Given the description of an element on the screen output the (x, y) to click on. 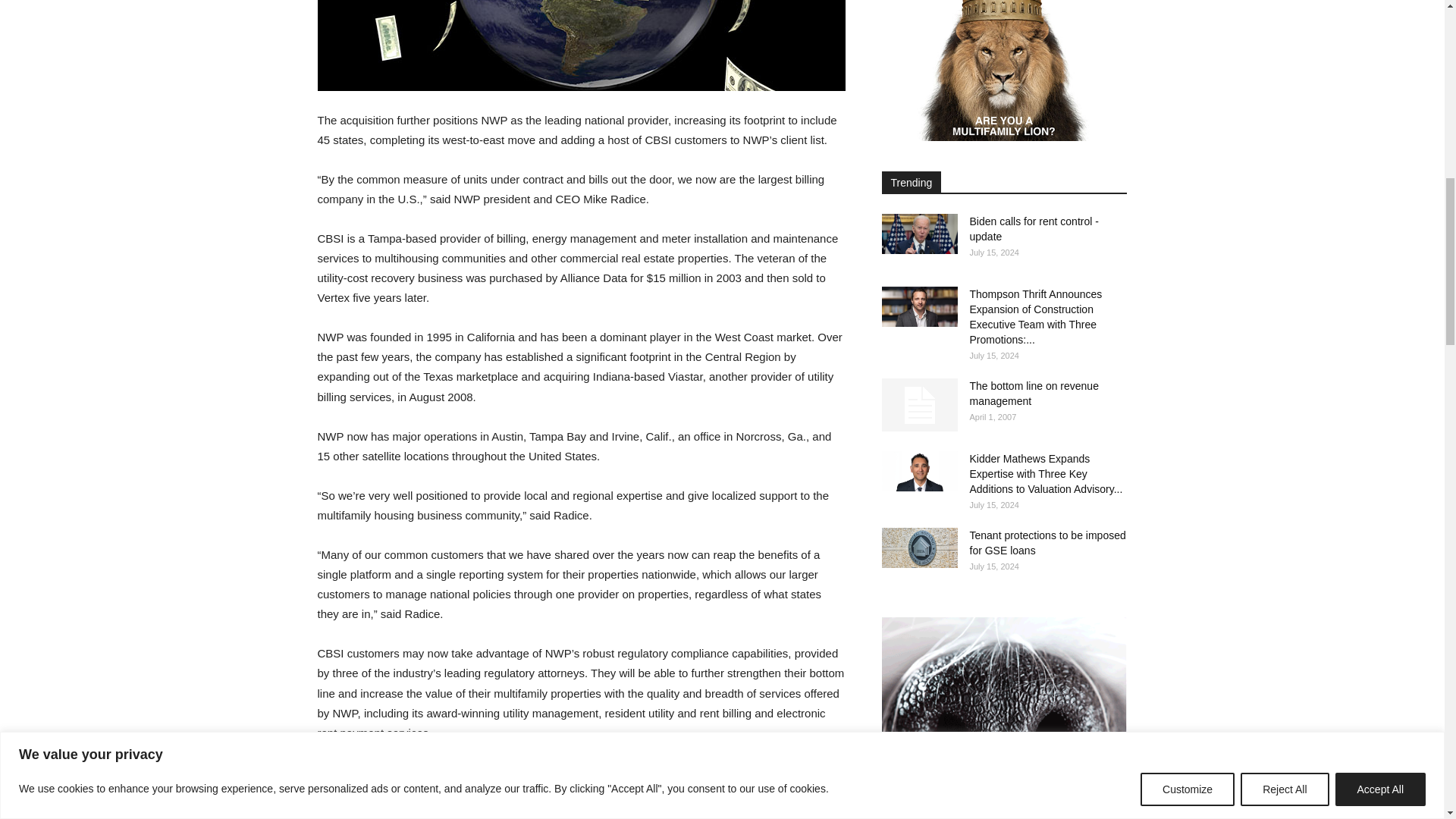
global (580, 45)
UMAdvisory (580, 790)
